Given the description of an element on the screen output the (x, y) to click on. 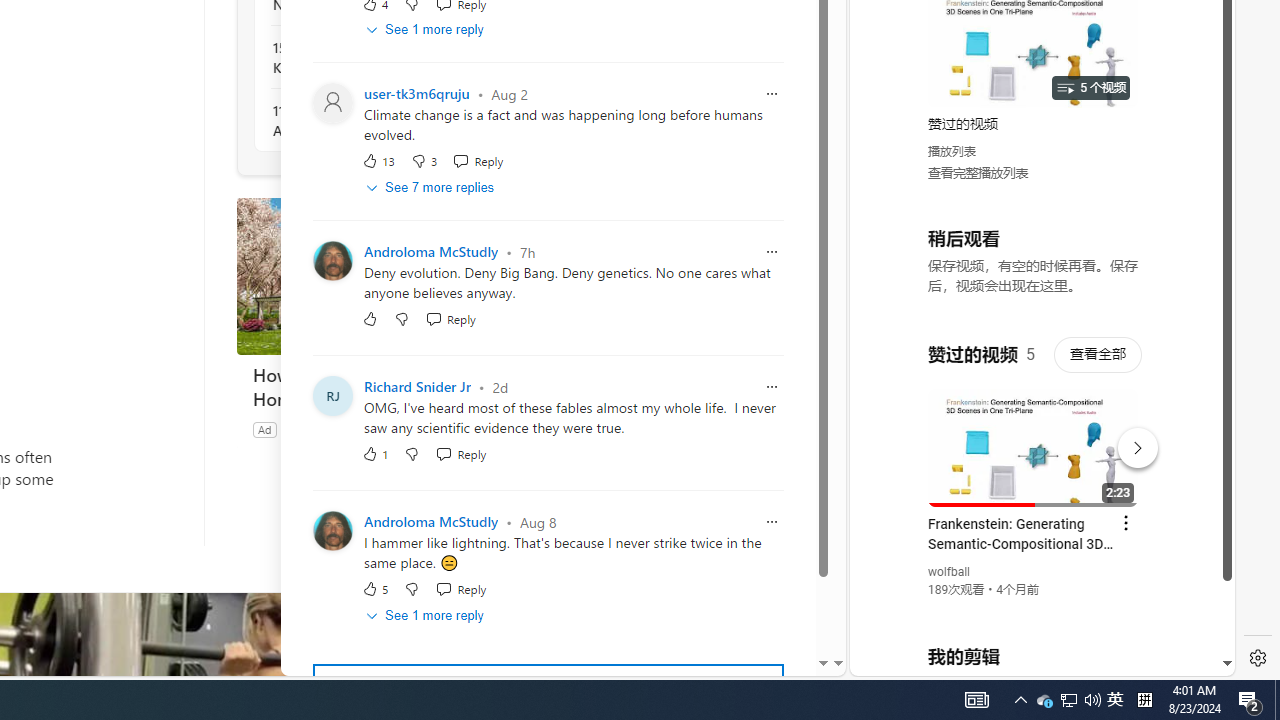
5 Like (375, 588)
Like (370, 318)
